Given the description of an element on the screen output the (x, y) to click on. 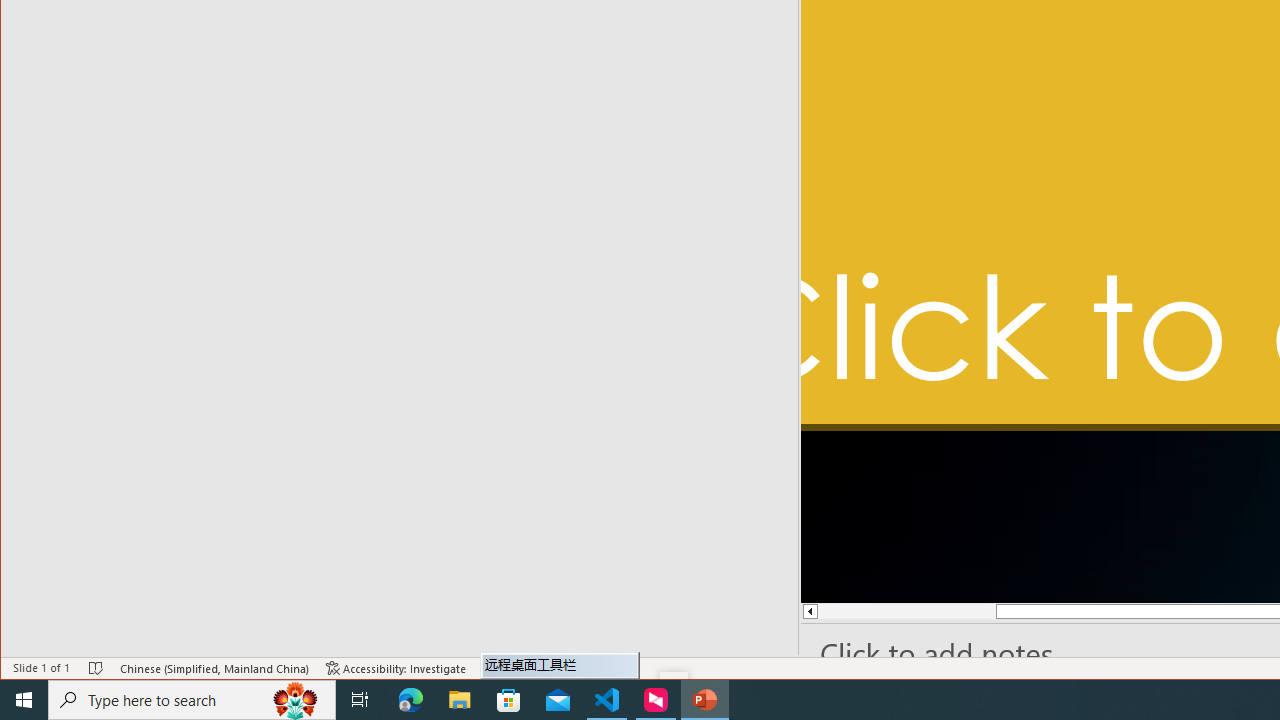
Microsoft Edge (411, 699)
